Given the description of an element on the screen output the (x, y) to click on. 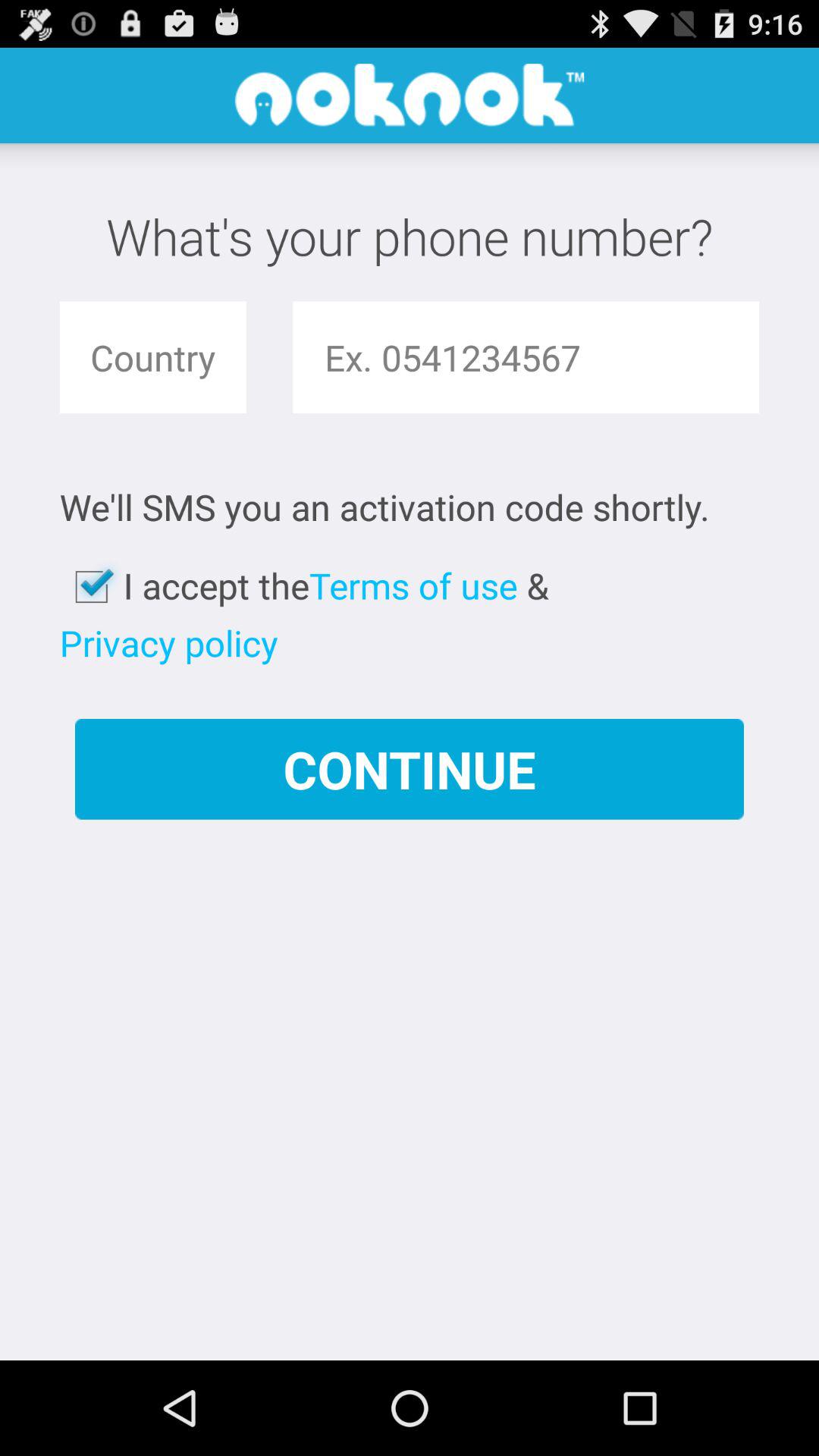
choose terms of use app (413, 585)
